Given the description of an element on the screen output the (x, y) to click on. 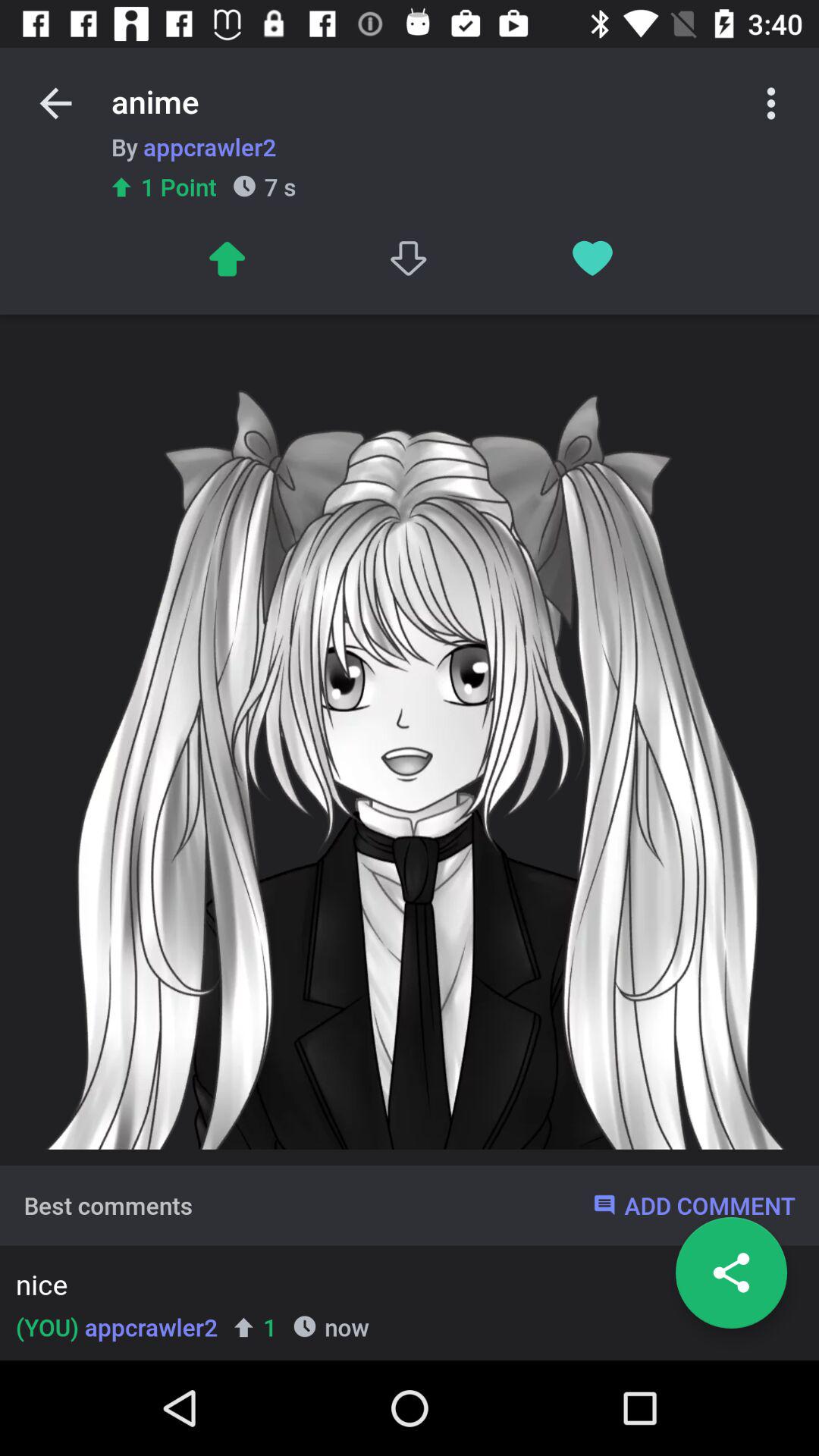
upload option (226, 258)
